Given the description of an element on the screen output the (x, y) to click on. 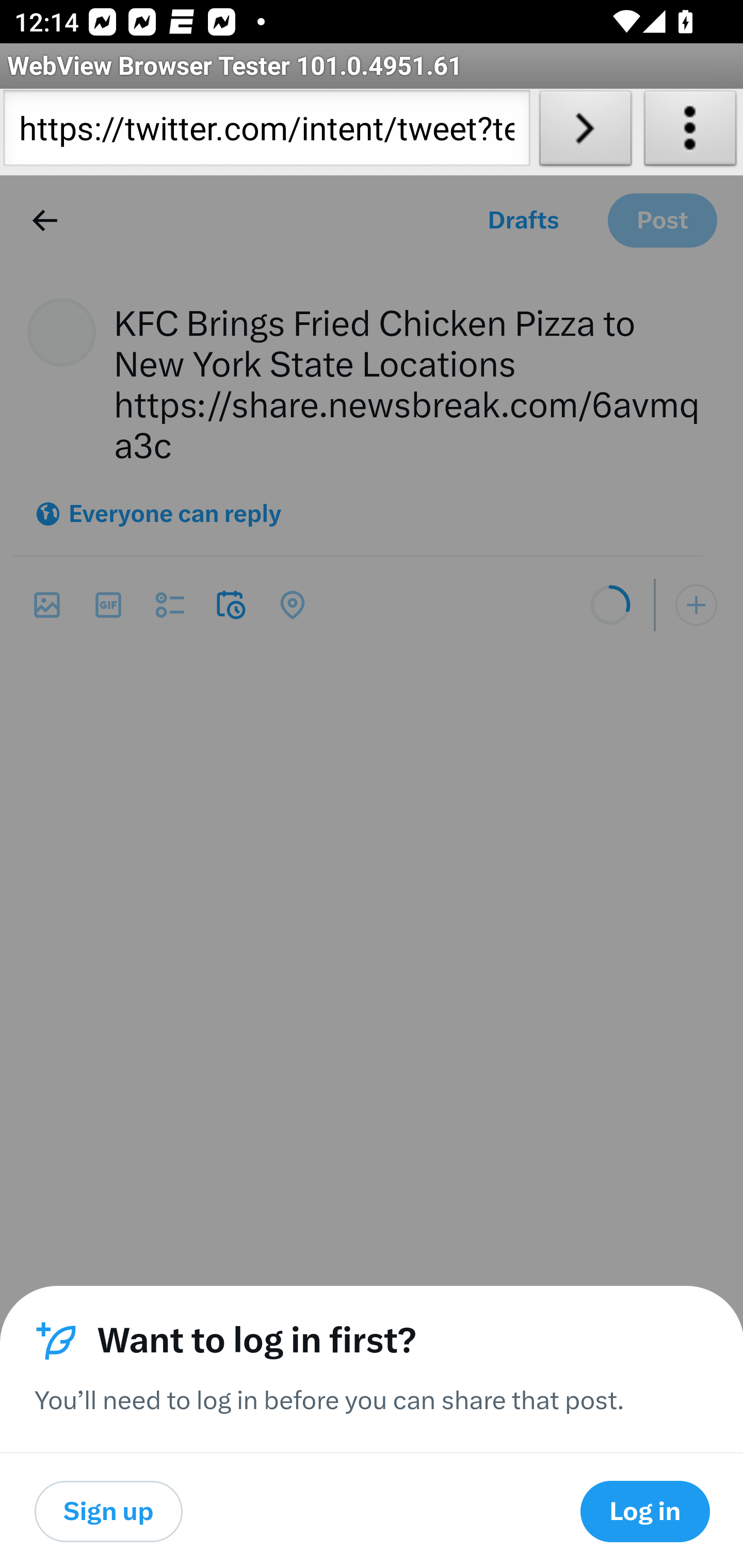
Load URL (585, 132)
About WebView (690, 132)
